Given the description of an element on the screen output the (x, y) to click on. 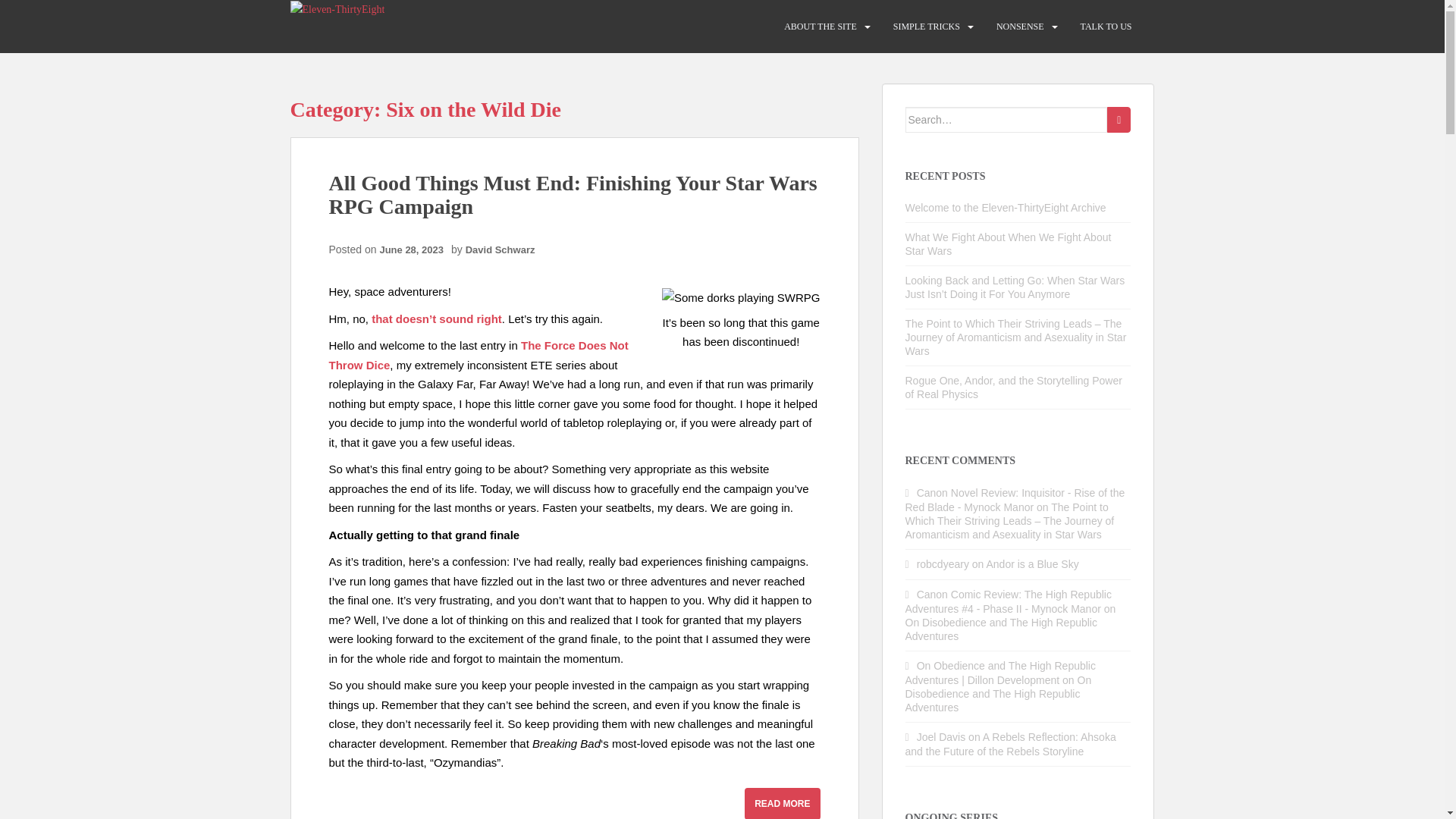
David Schwarz (500, 249)
TALK TO US (1106, 26)
ABOUT THE SITE (820, 26)
SIMPLE TRICKS (926, 26)
June 28, 2023 (414, 249)
8:00 am (414, 249)
NONSENSE (1019, 26)
Posts by David Schwarz (500, 249)
READ MORE (781, 803)
